Given the description of an element on the screen output the (x, y) to click on. 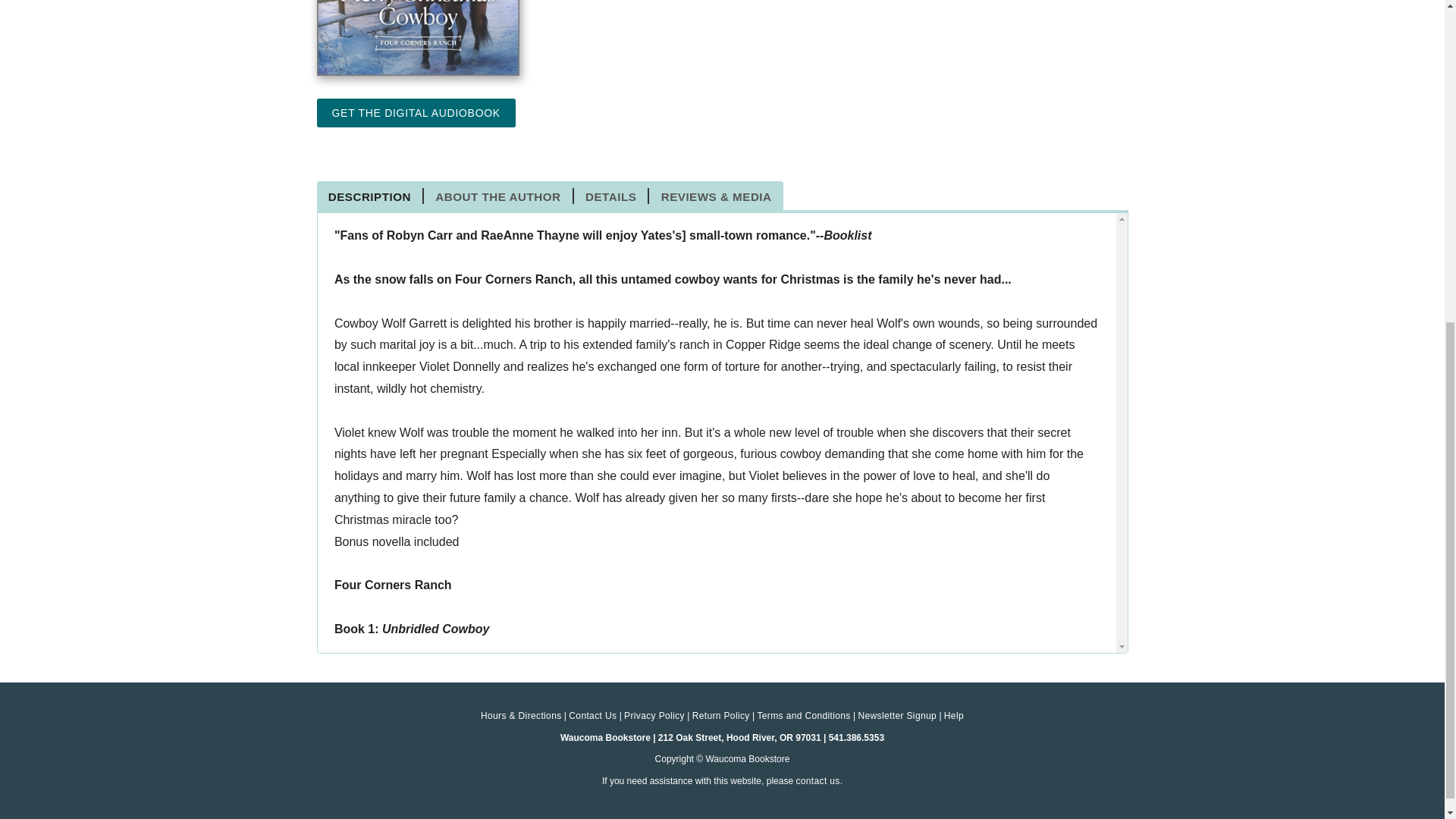
Get the Digital Audiobook (416, 112)
